Given the description of an element on the screen output the (x, y) to click on. 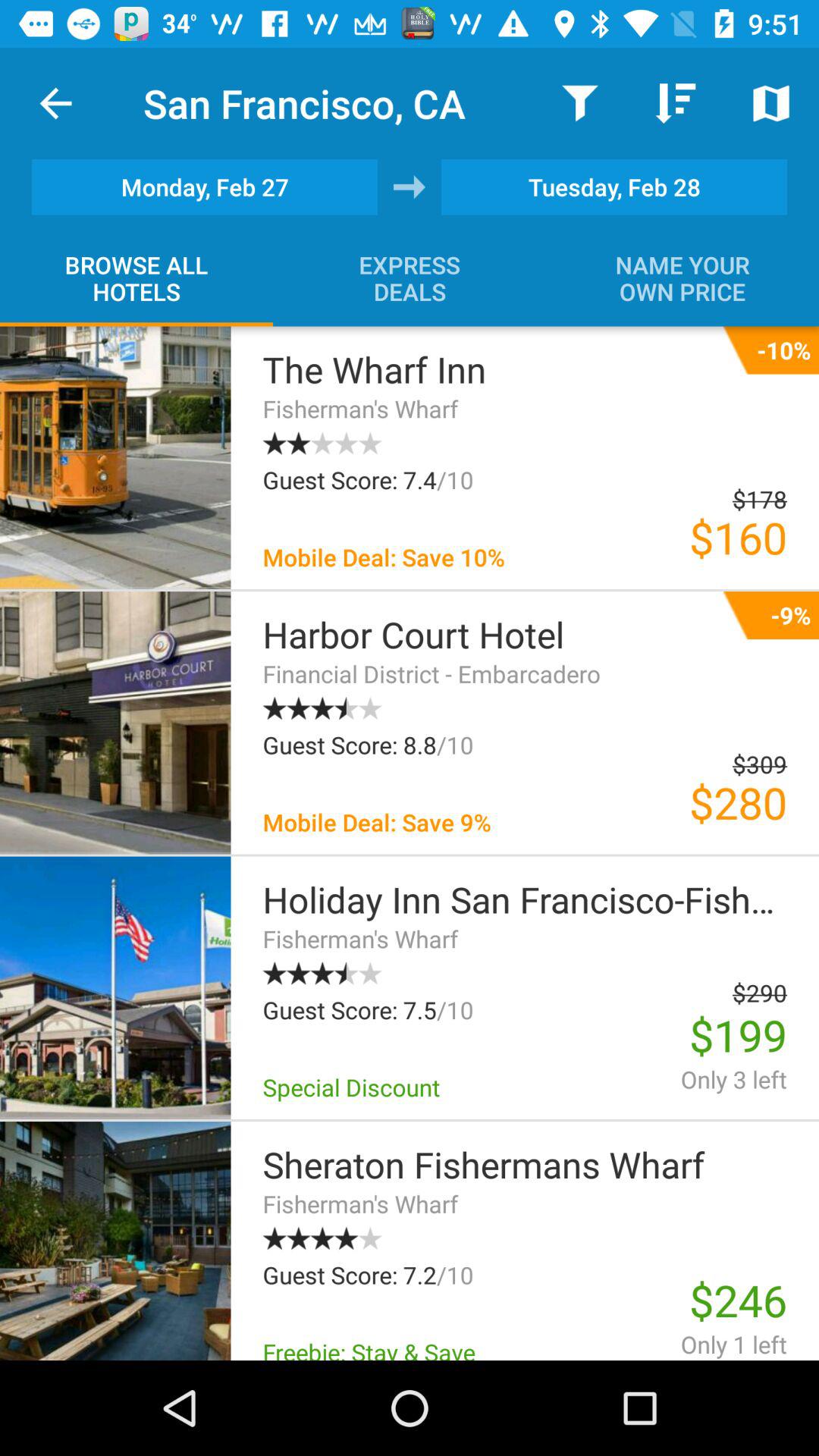
click the icon to the right of the san francisco, ca (579, 103)
